Given the description of an element on the screen output the (x, y) to click on. 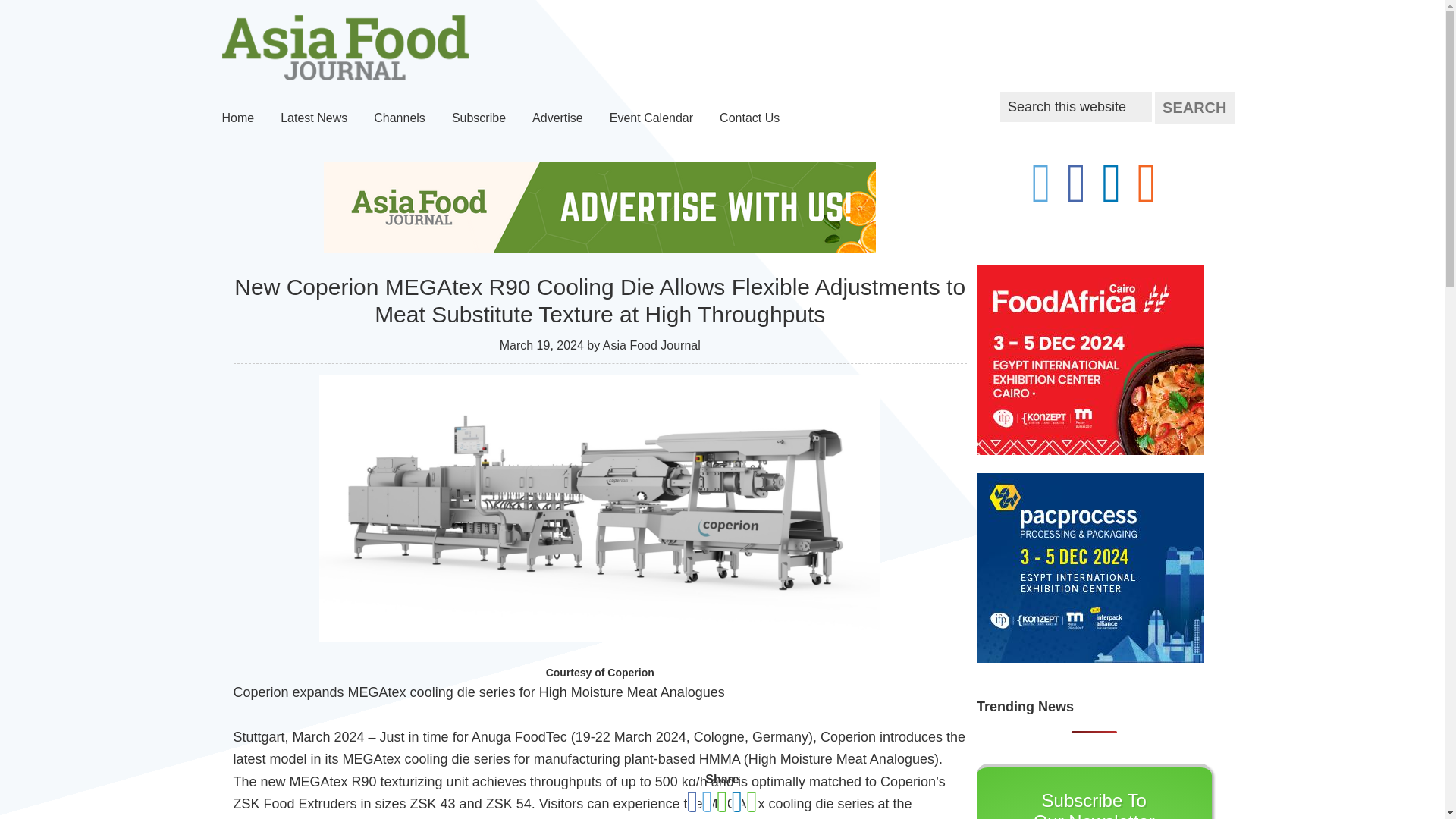
Event Calendar (651, 118)
Subscribe (478, 118)
Channels (399, 118)
Home (238, 118)
Latest News (313, 118)
Contact Us (748, 118)
Search (1193, 107)
Asia Food Journal (344, 47)
Advertise (557, 118)
Search (1193, 107)
